Given the description of an element on the screen output the (x, y) to click on. 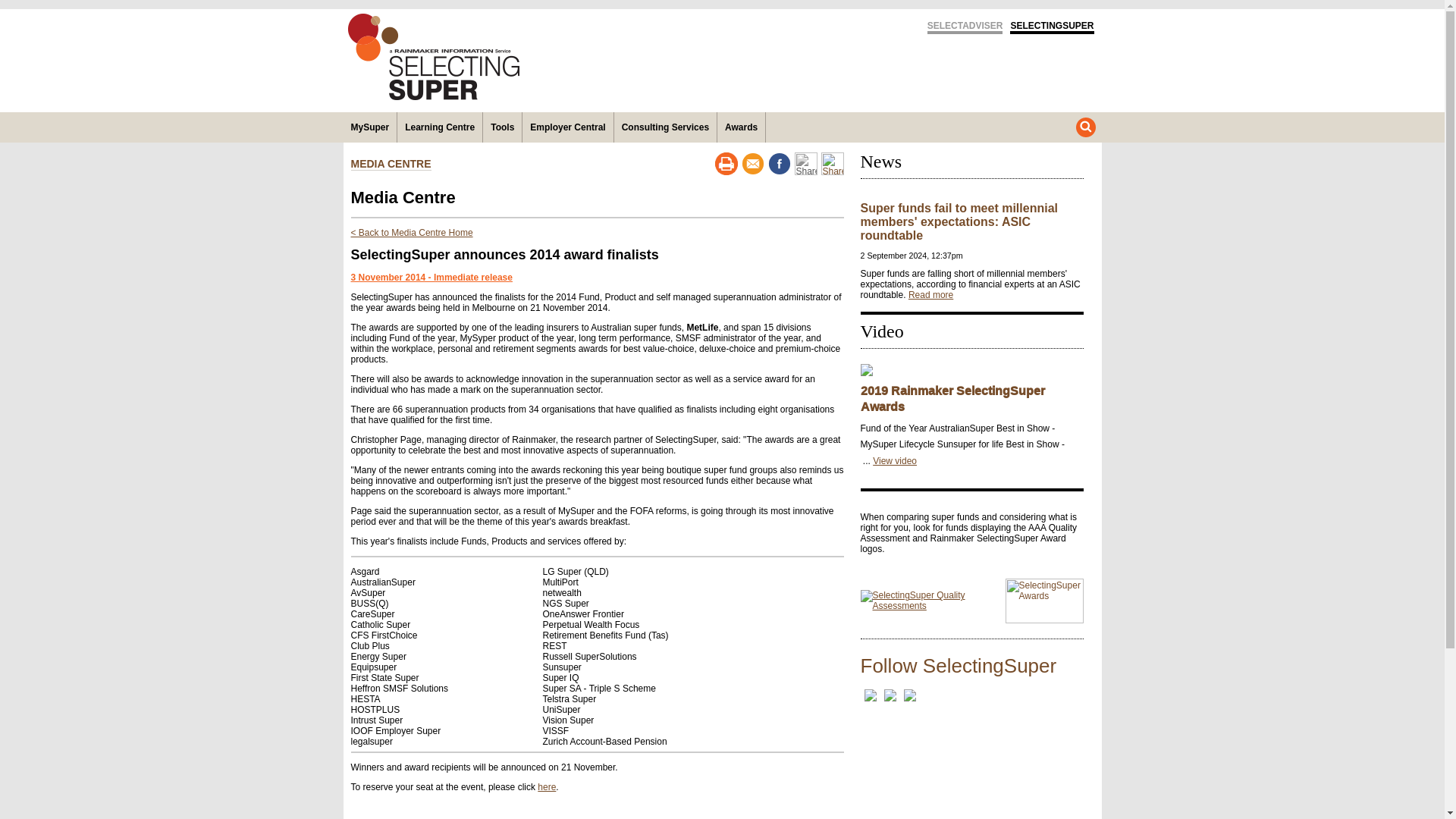
Search Financial Standard (1084, 127)
here (546, 787)
Share on Facebook (778, 163)
View video (894, 460)
Click to read full story (930, 294)
MEDIA CENTRE (390, 164)
Share on X (805, 163)
SELECTADVISER (965, 27)
Read more (930, 294)
Click to read full story (958, 221)
